Given the description of an element on the screen output the (x, y) to click on. 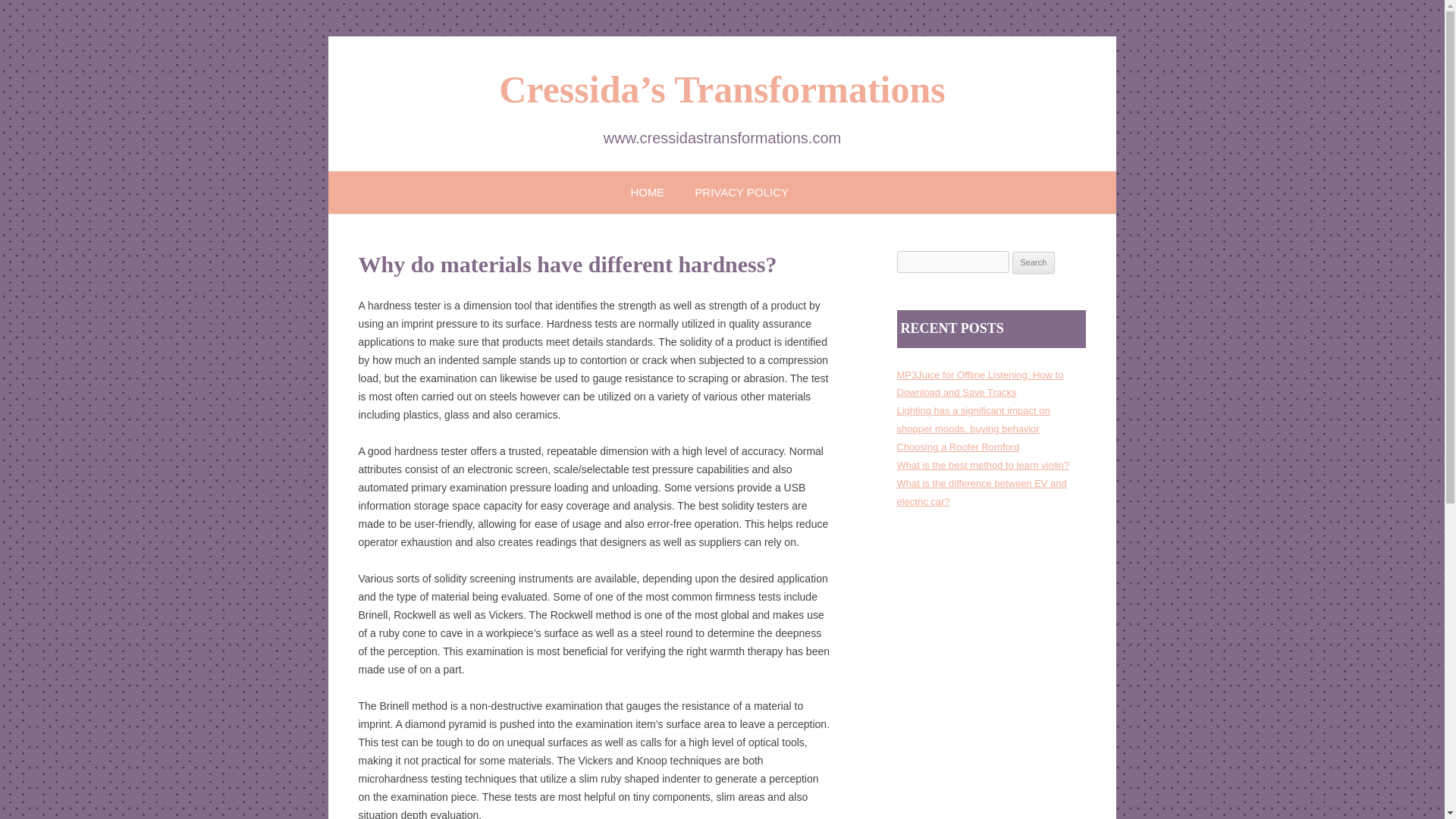
Search (1033, 262)
What is the best method to learn violin? (982, 464)
What is the difference between EV and electric car? (980, 491)
Choosing a Roofer Romford (957, 446)
Search (1033, 262)
PRIVACY POLICY (741, 191)
